Given the description of an element on the screen output the (x, y) to click on. 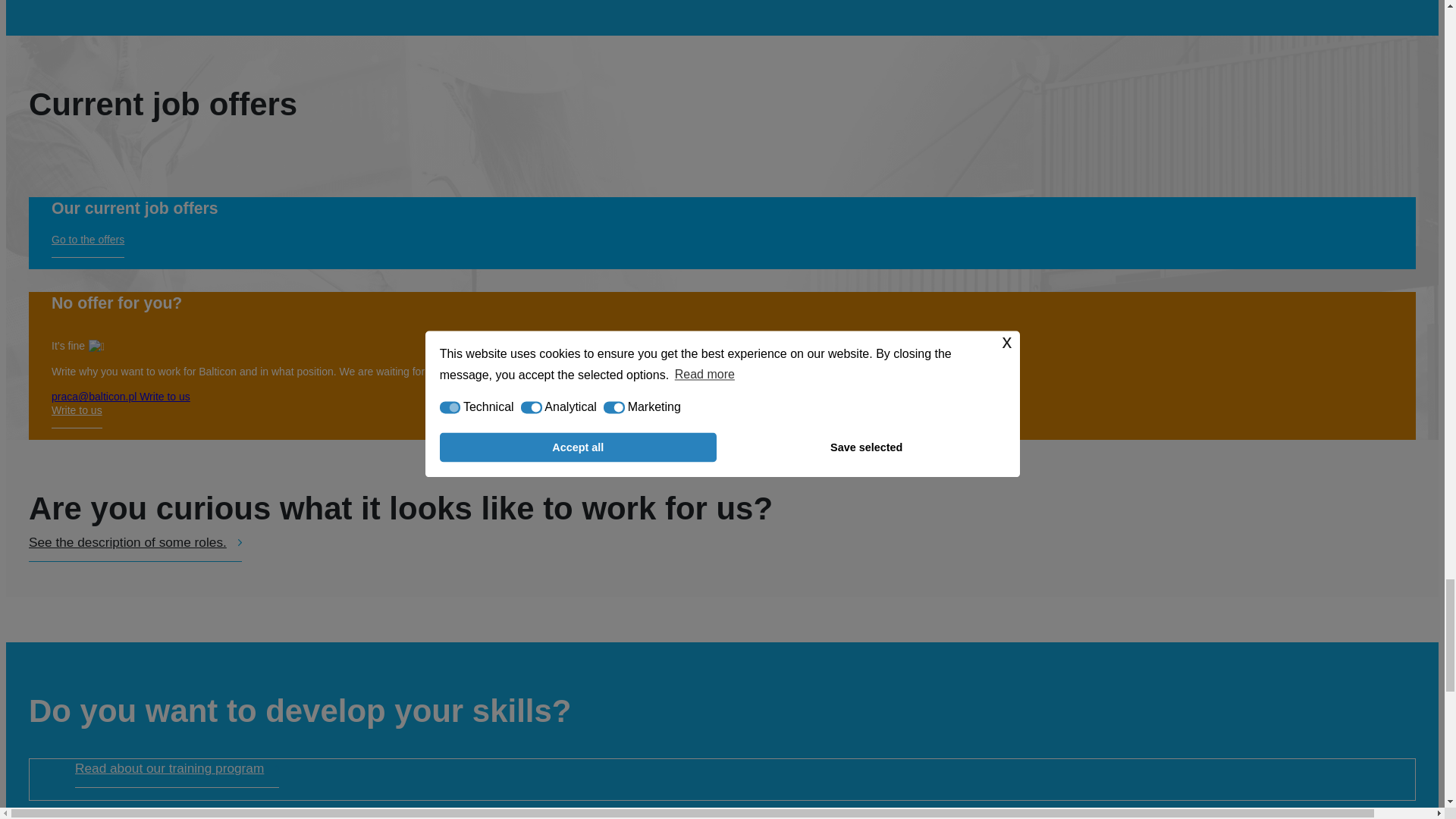
See the description of some roles. (135, 547)
Write to us (75, 416)
Go to the offers (86, 245)
Read about our training program (177, 773)
